Given the description of an element on the screen output the (x, y) to click on. 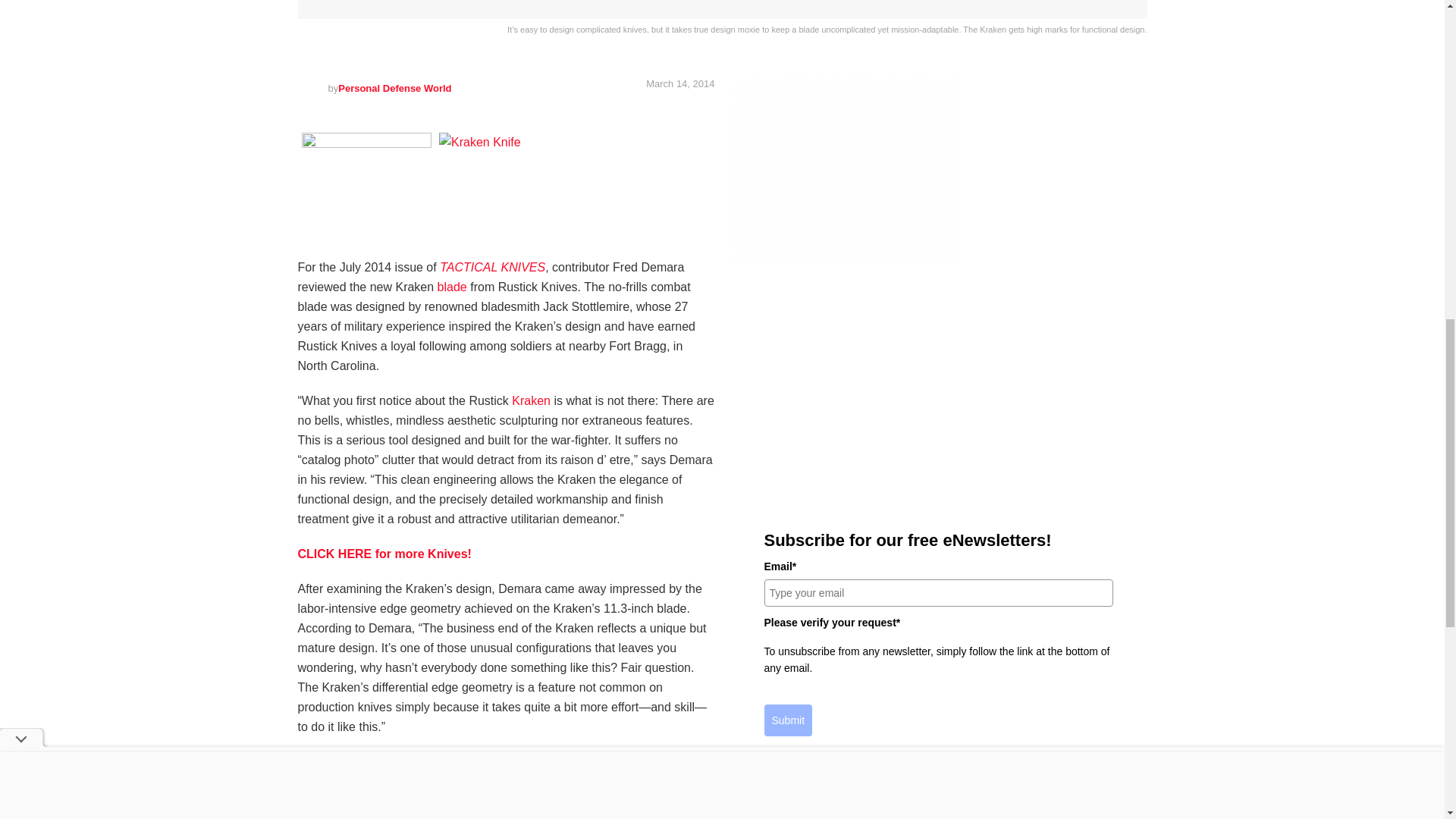
3rd party ad content (938, 390)
Tactical Knives (491, 267)
Blades (452, 286)
Kraken Knife (531, 400)
3rd party ad content (842, 170)
